Given the description of an element on the screen output the (x, y) to click on. 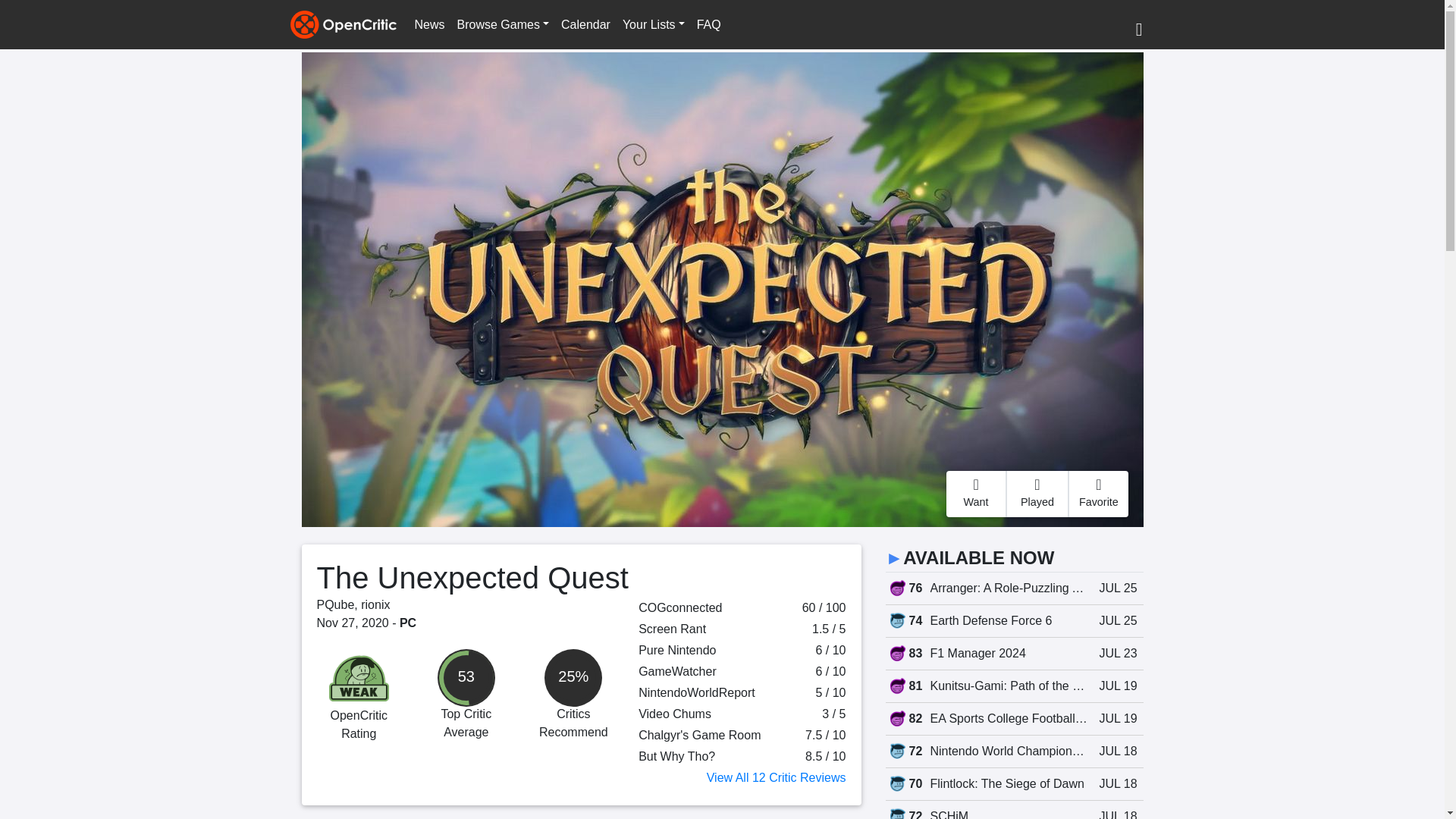
Your Lists (652, 24)
View All 12 Critic Reviews (775, 777)
Calendar (584, 24)
Browse Games (502, 24)
FAQ (708, 24)
News (428, 24)
